Given the description of an element on the screen output the (x, y) to click on. 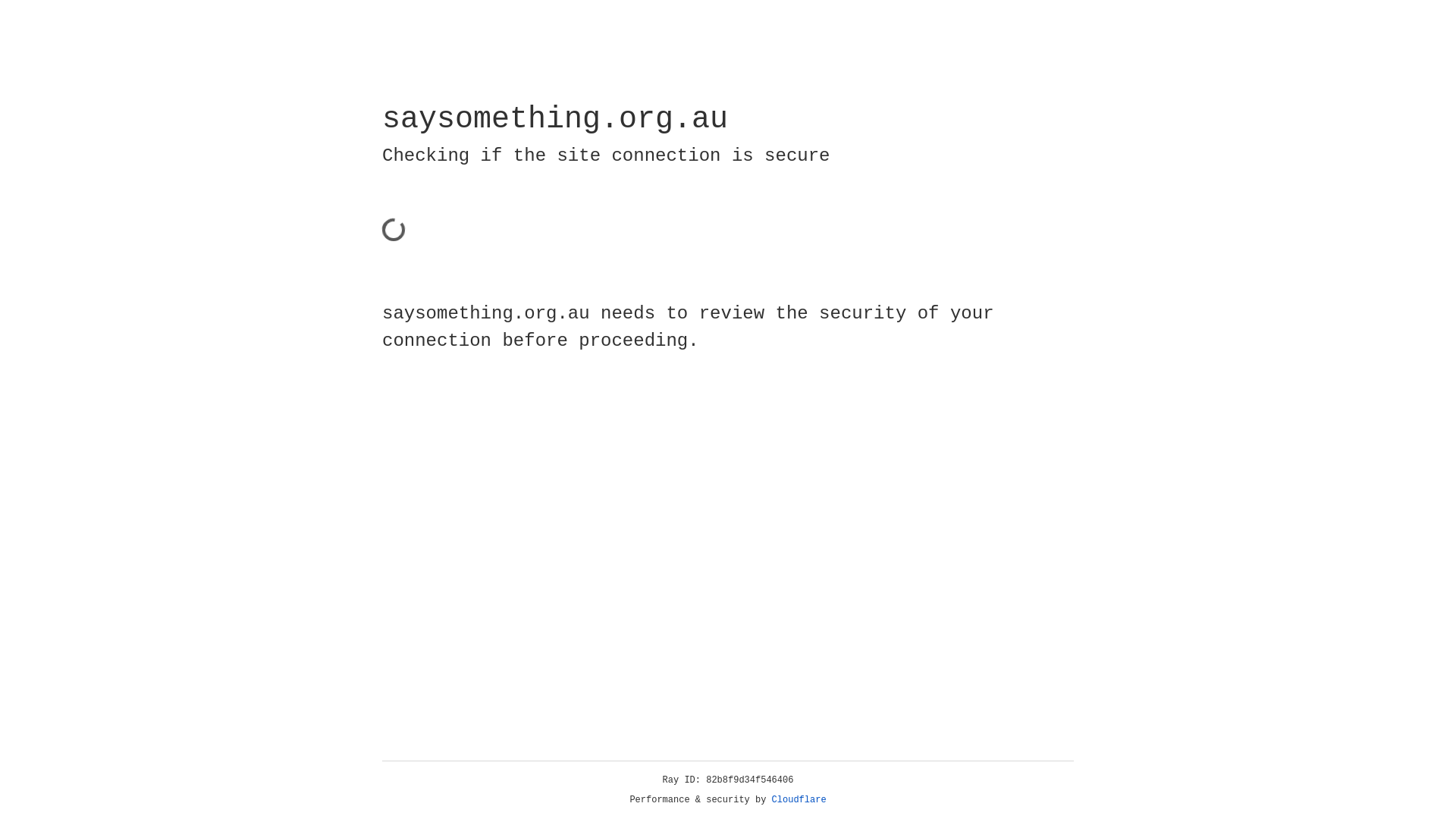
Cloudflare Element type: text (798, 799)
